Given the description of an element on the screen output the (x, y) to click on. 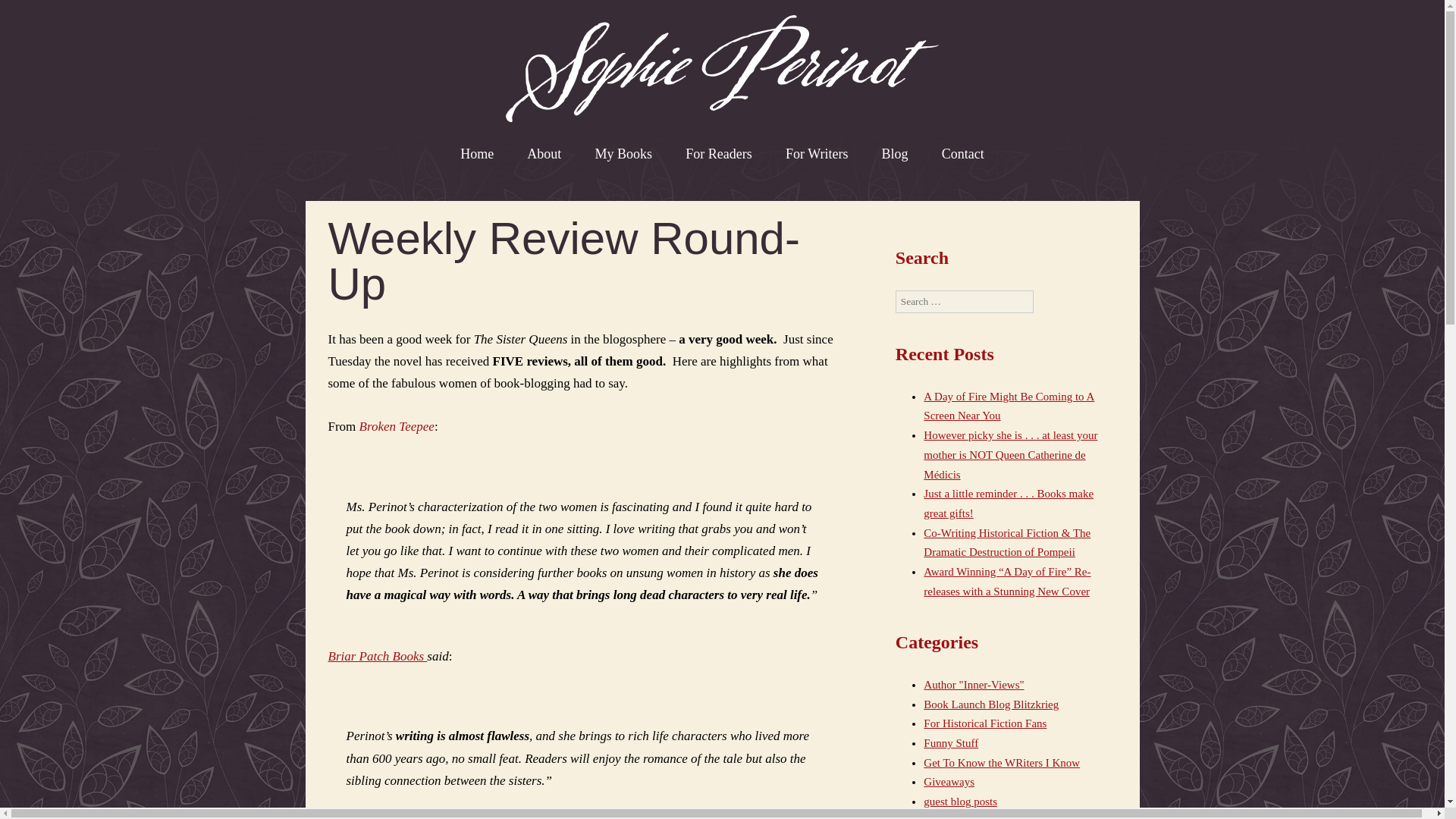
Author "Inner-Views" (973, 684)
A Day of Fire Might Be Coming to A Screen Near You (1008, 406)
For Historical Fiction Fans (984, 723)
Sophie Perinot (722, 68)
For Writers (816, 153)
guest blog posts (960, 801)
My Books (623, 153)
Get To Know the WRiters I Know (1001, 762)
Medicis Daughter (964, 816)
Funny Stuff (950, 743)
